Given the description of an element on the screen output the (x, y) to click on. 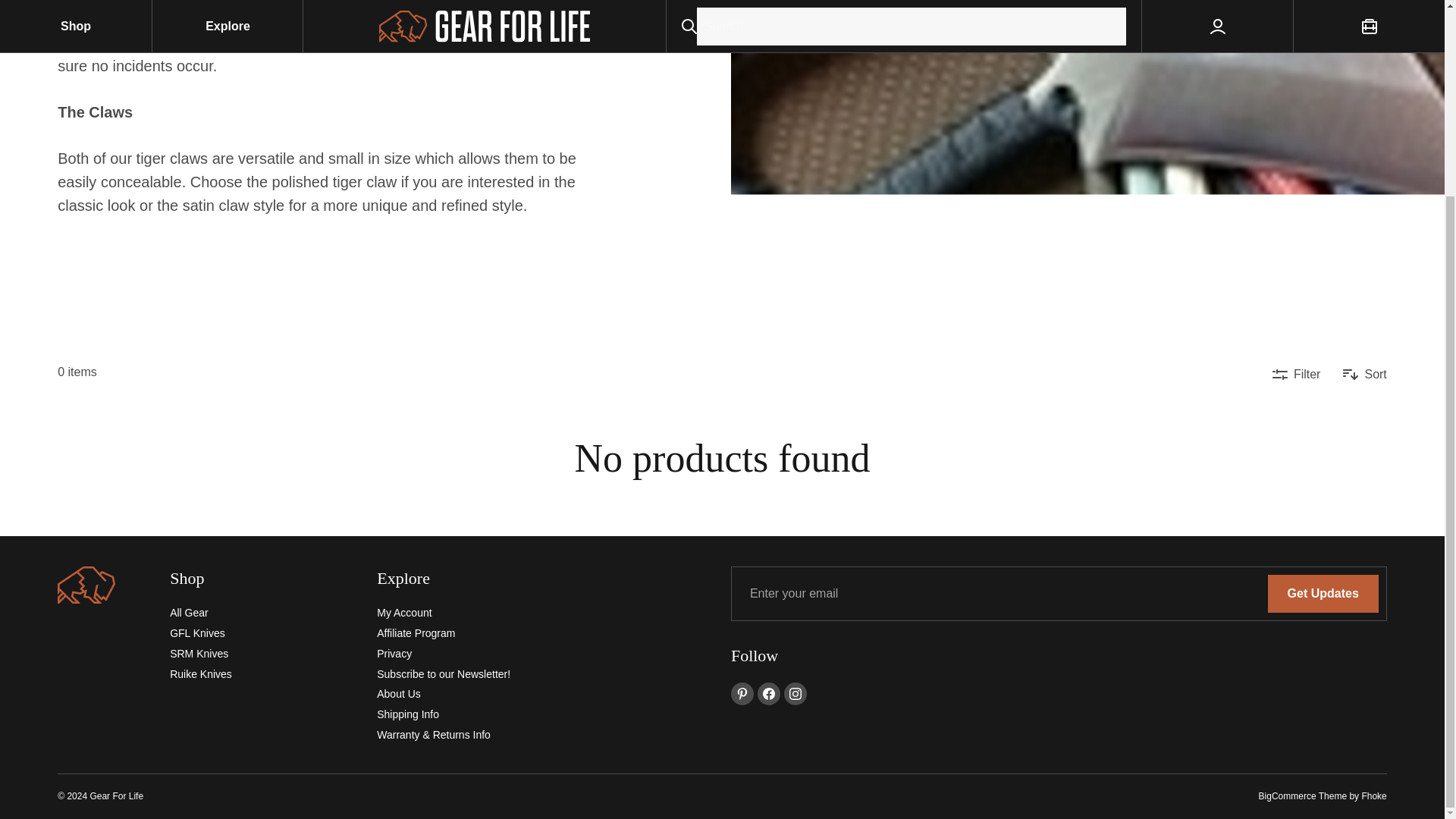
Get Updates (1323, 593)
SRM Knives (199, 653)
GFL Knives (197, 633)
Sort (1364, 374)
Filter (1296, 374)
All Gear (189, 612)
